Given the description of an element on the screen output the (x, y) to click on. 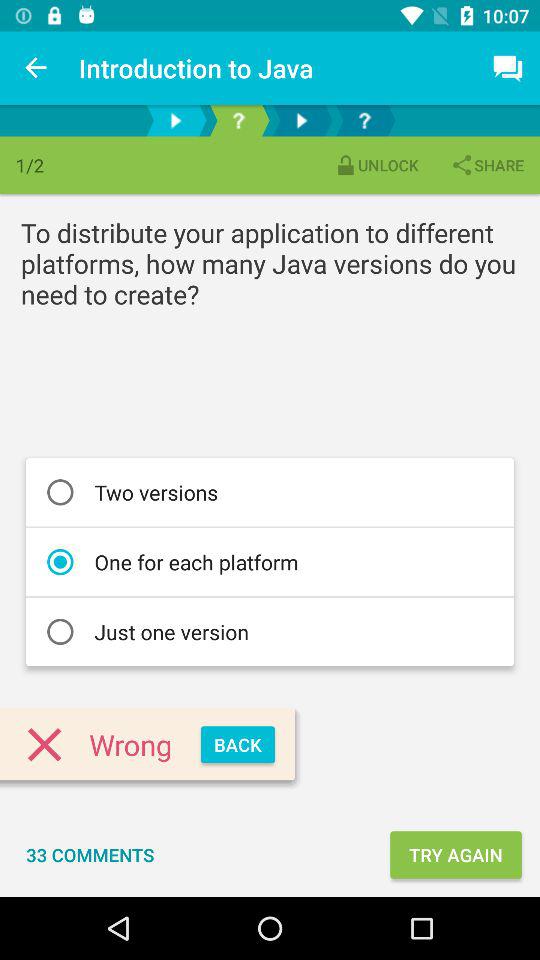
press icon above share item (508, 67)
